Given the description of an element on the screen output the (x, y) to click on. 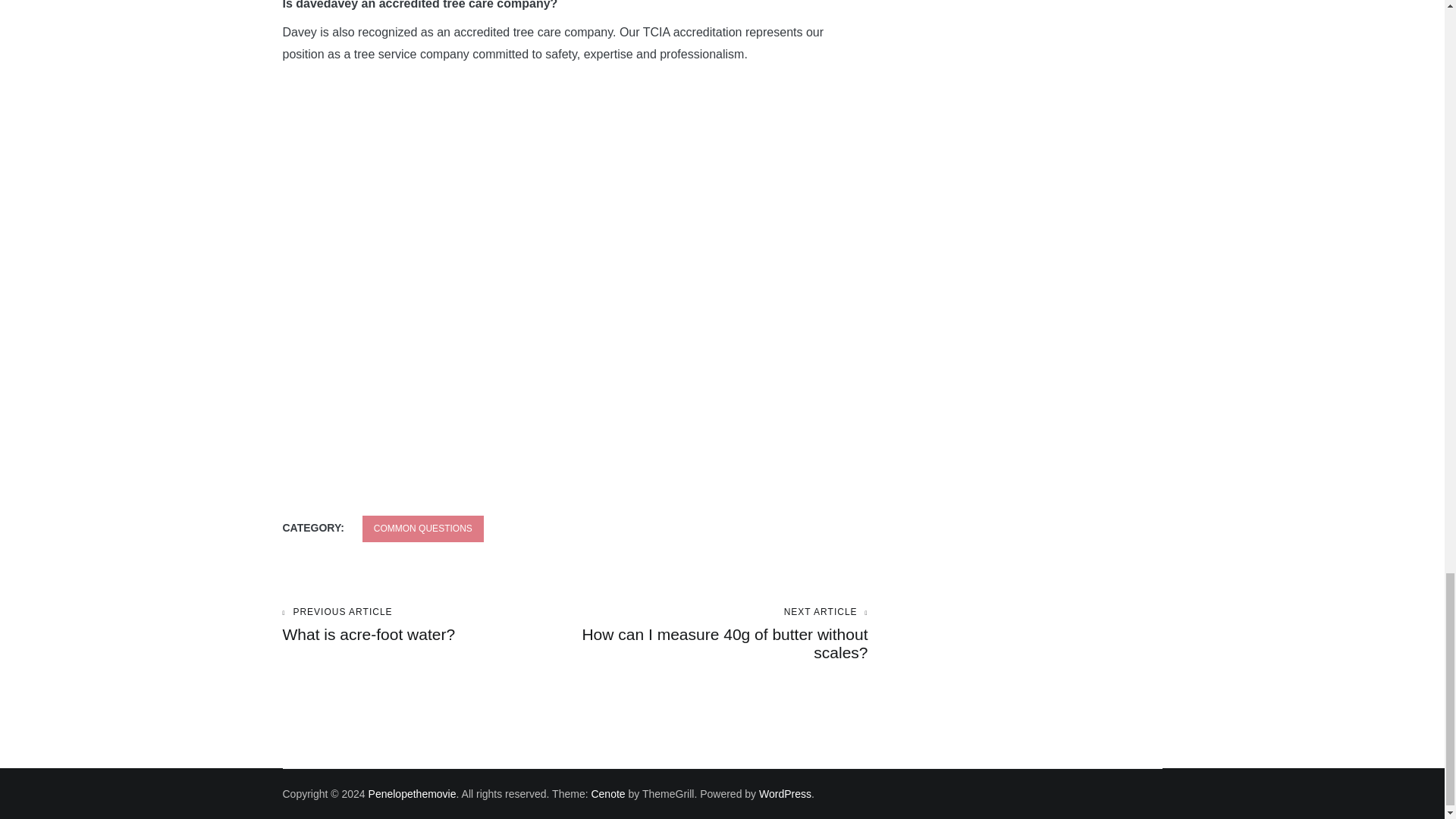
Penelopethemovie (721, 633)
COMMON QUESTIONS (412, 793)
